Given the description of an element on the screen output the (x, y) to click on. 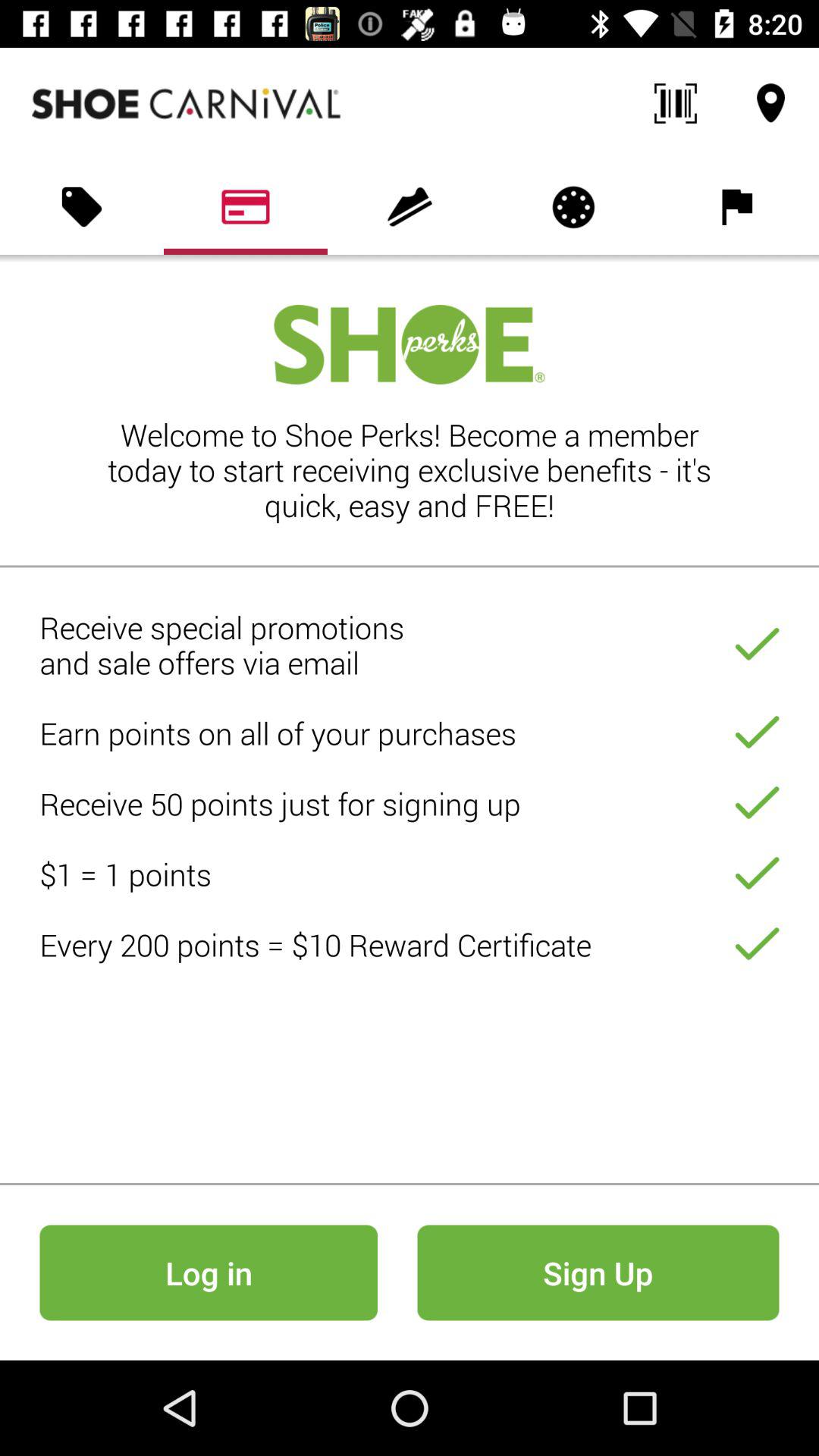
turn off item to the left of sign up icon (208, 1272)
